Given the description of an element on the screen output the (x, y) to click on. 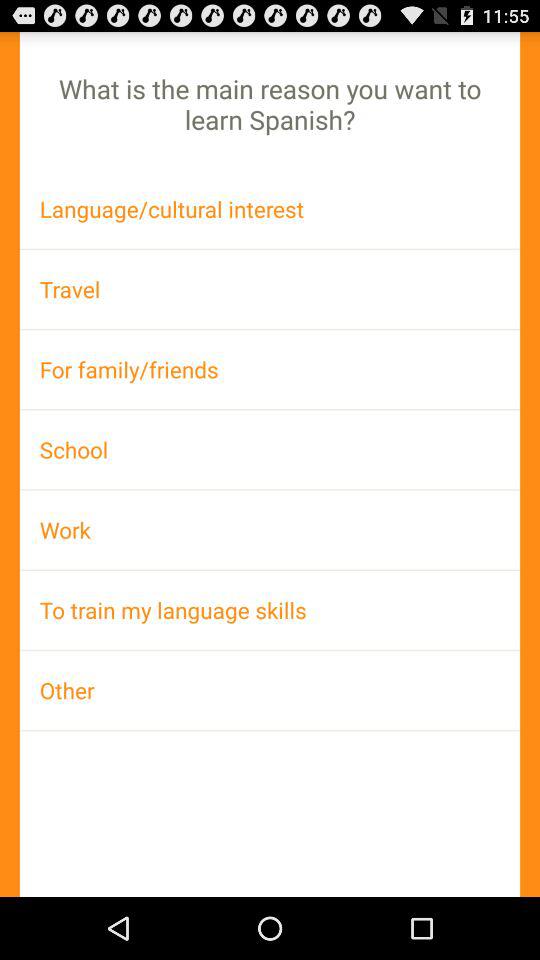
choose the item above the other icon (269, 609)
